Given the description of an element on the screen output the (x, y) to click on. 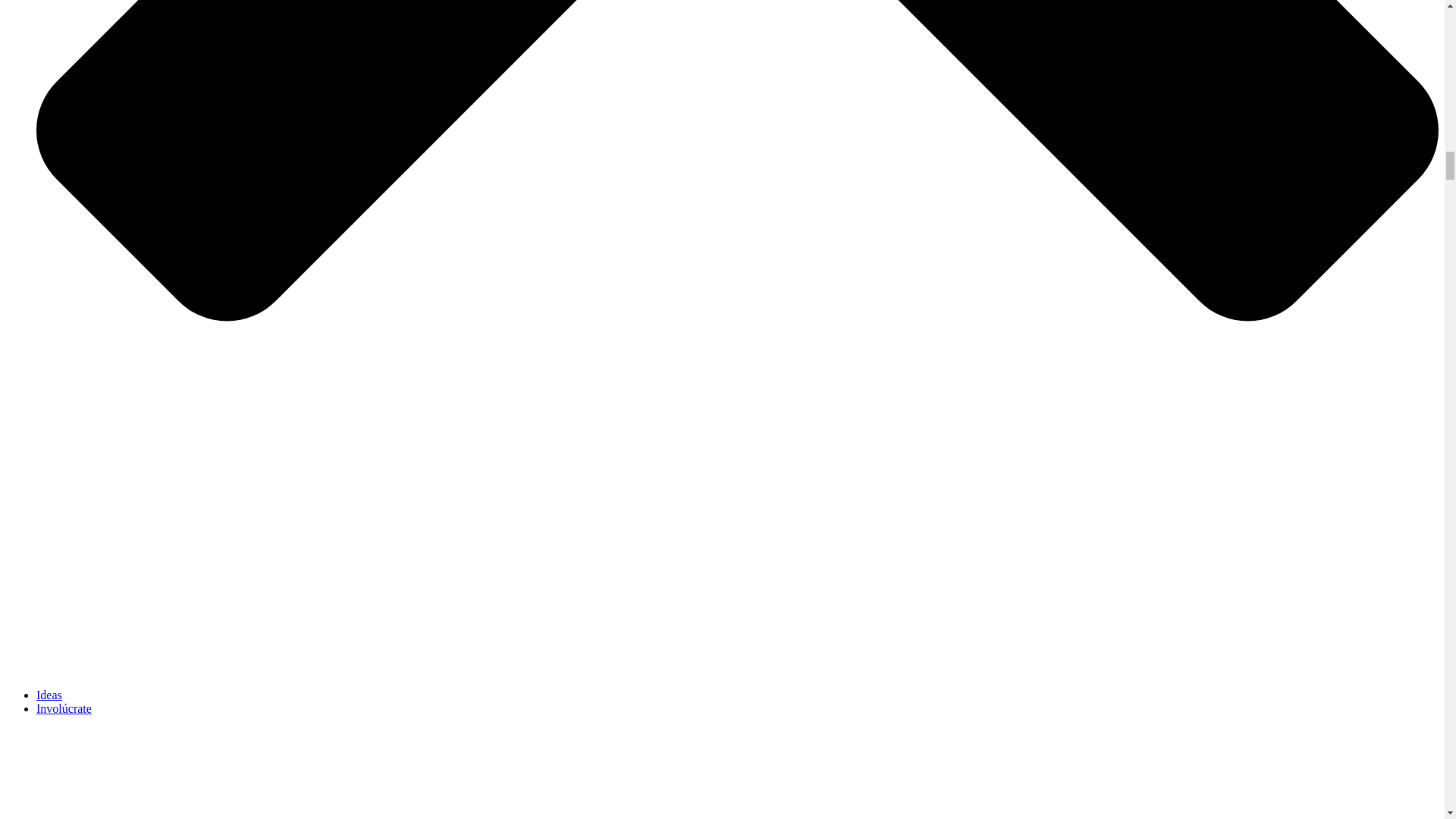
Ideas (49, 694)
Ideas (49, 694)
